Given the description of an element on the screen output the (x, y) to click on. 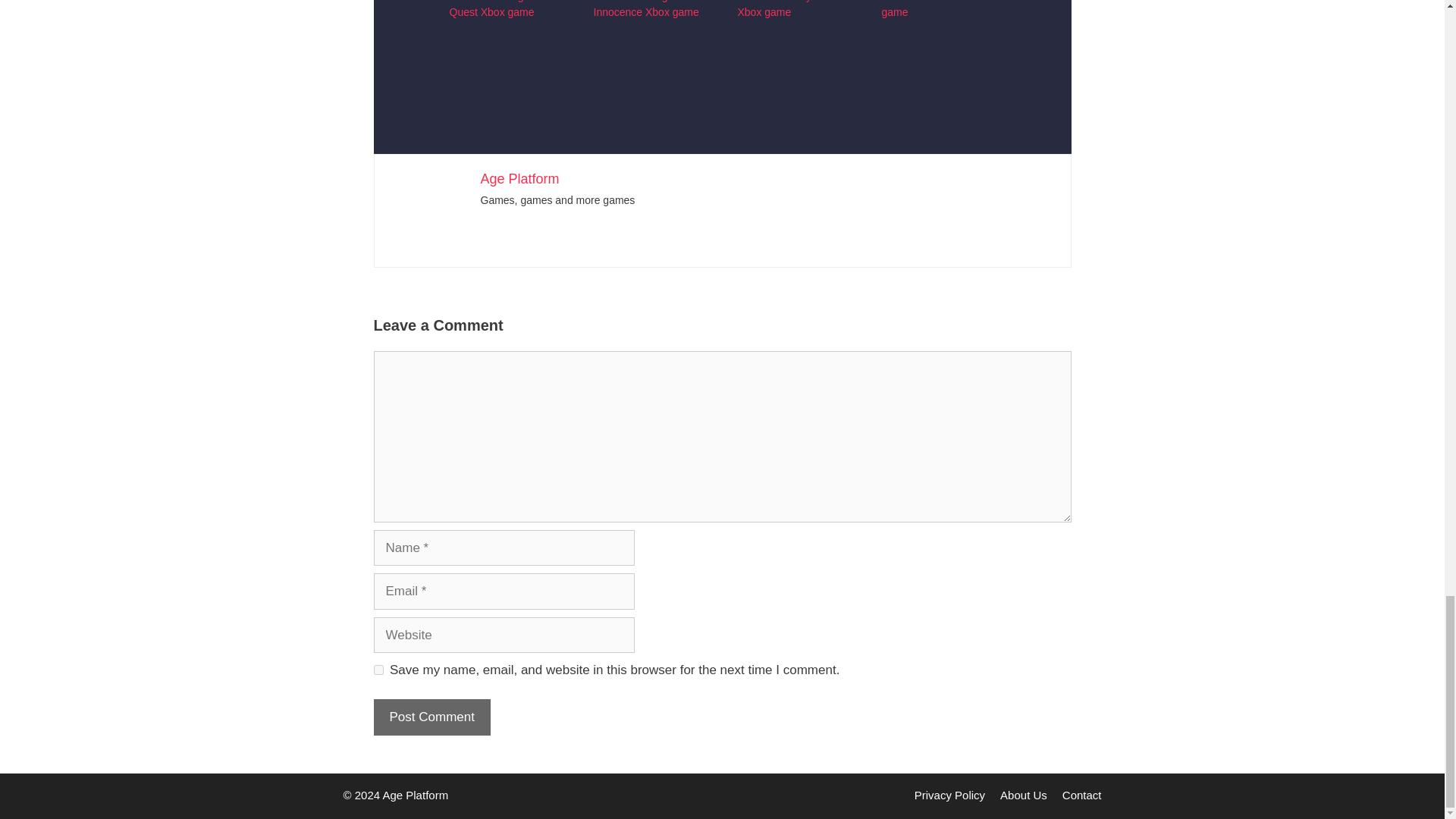
About Us (1023, 794)
yes (377, 669)
Age Platform (519, 178)
All about A Plague Tale: Innocence Xbox game (648, 9)
All about 7 Days to Die Xbox game (649, 37)
Post Comment (430, 717)
Post Comment (430, 717)
All about A Boy and His Blob Xbox game (793, 37)
All about Aaero Xbox game (929, 9)
All about 3on3 FreeStyle Xbox game (505, 37)
All about A KING'S TALE: FINAL FANTASY XV Xbox game (937, 37)
Privacy Policy (949, 794)
Contact (1082, 794)
All about A Way Out Xbox game (783, 9)
